Given the description of an element on the screen output the (x, y) to click on. 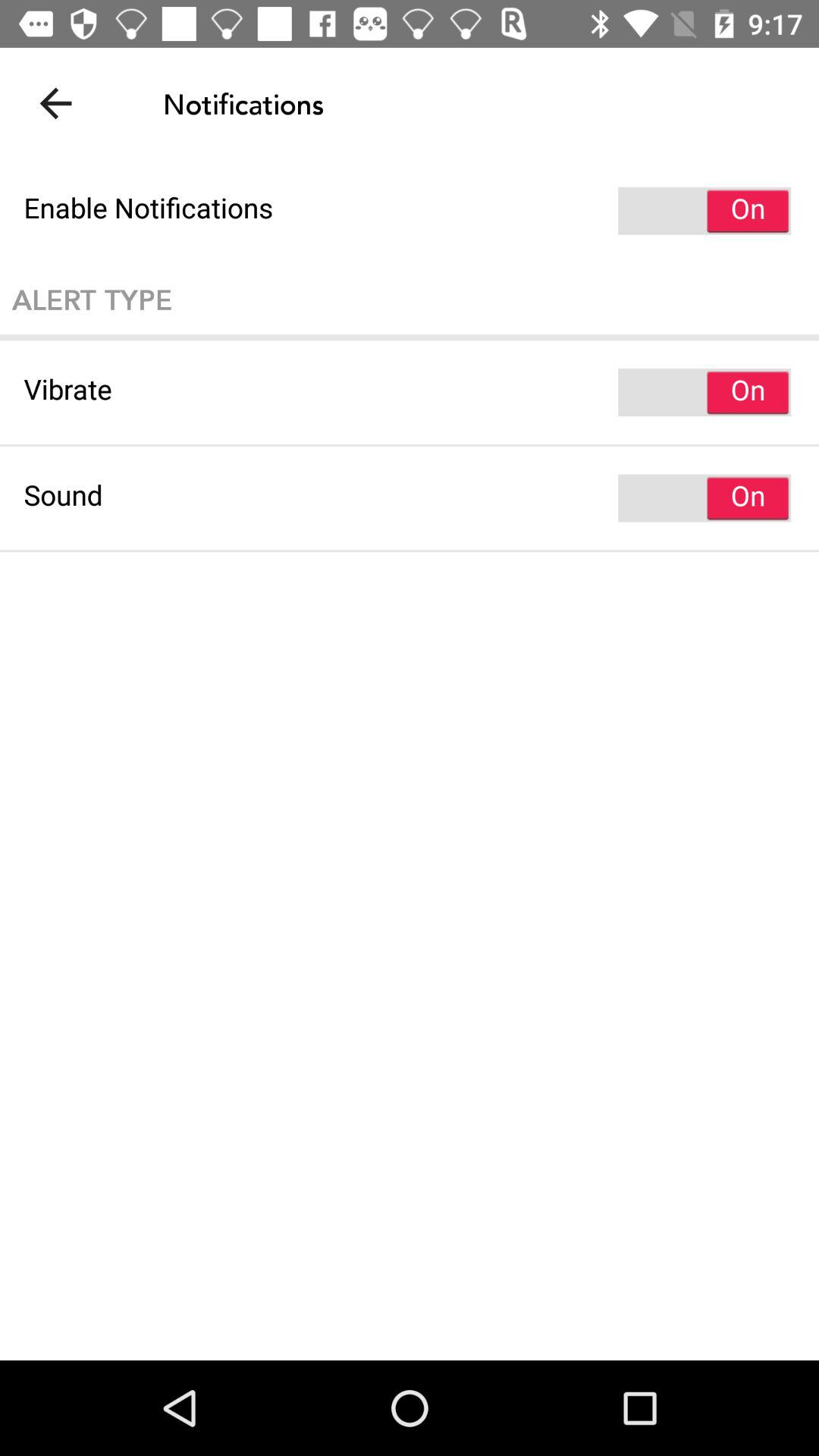
flip to sound item (409, 498)
